Given the description of an element on the screen output the (x, y) to click on. 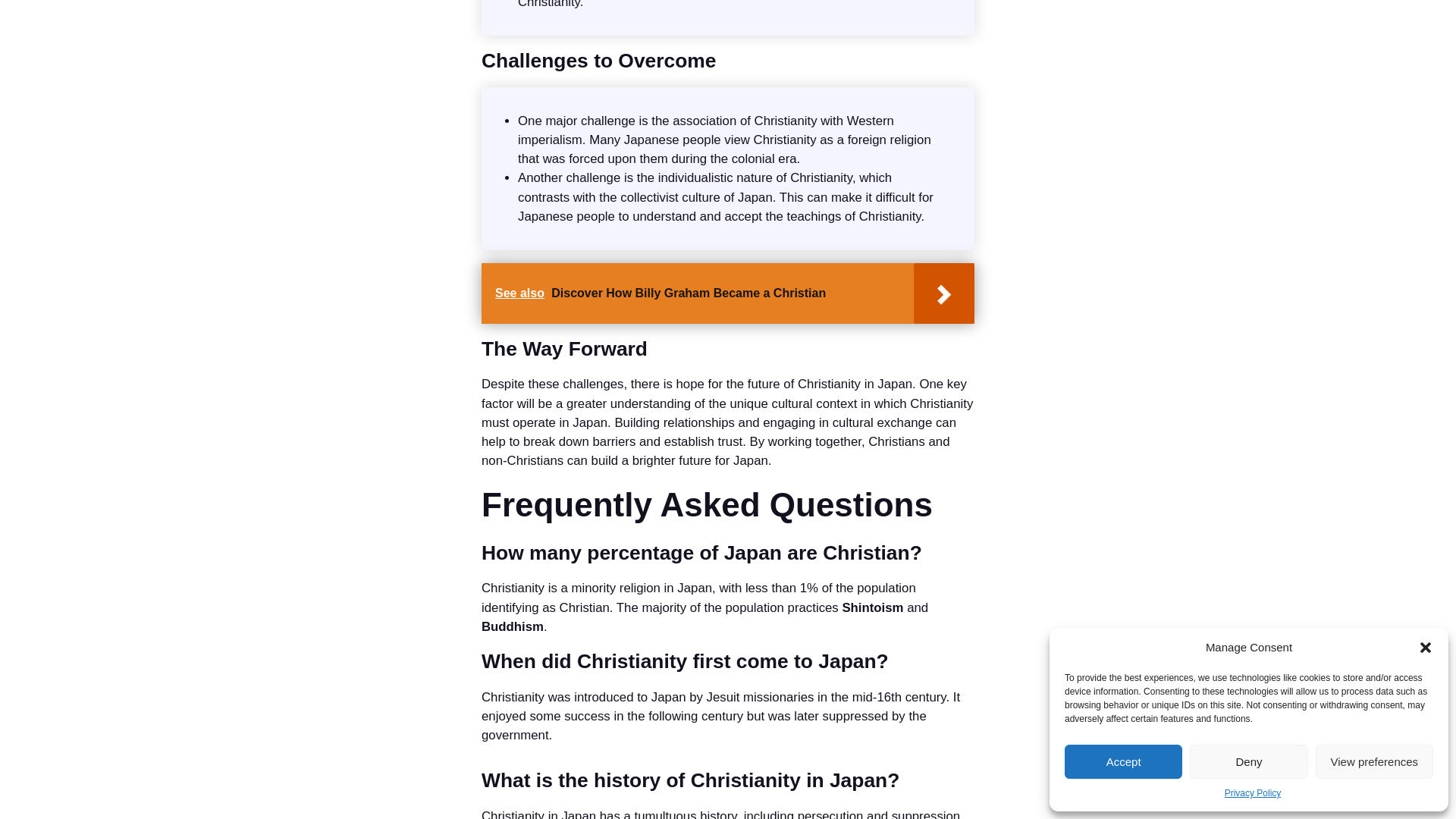
See also  Discover How Billy Graham Became a Christian (727, 292)
